Given the description of an element on the screen output the (x, y) to click on. 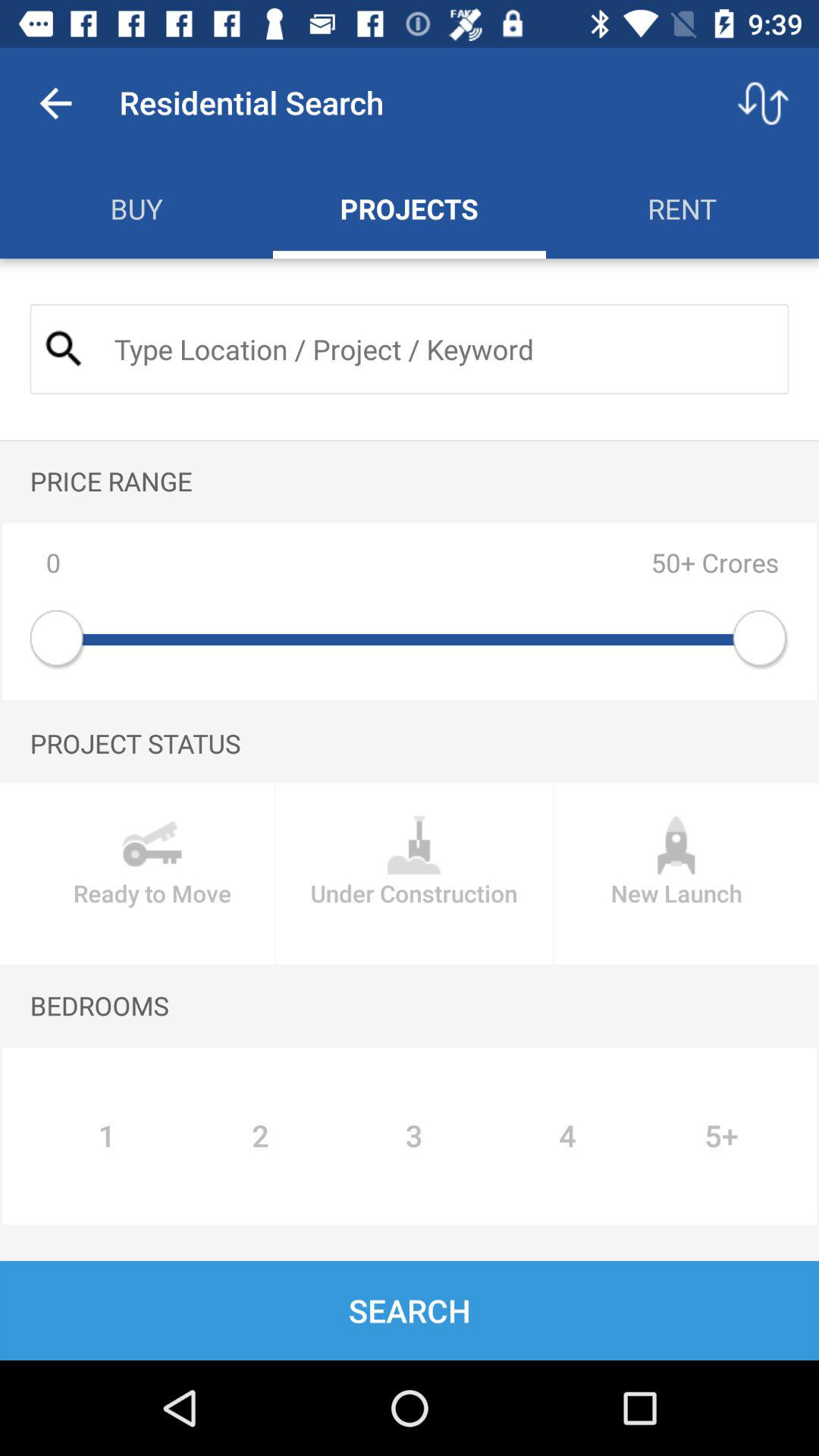
enter location/project/keyword to search (438, 349)
